Given the description of an element on the screen output the (x, y) to click on. 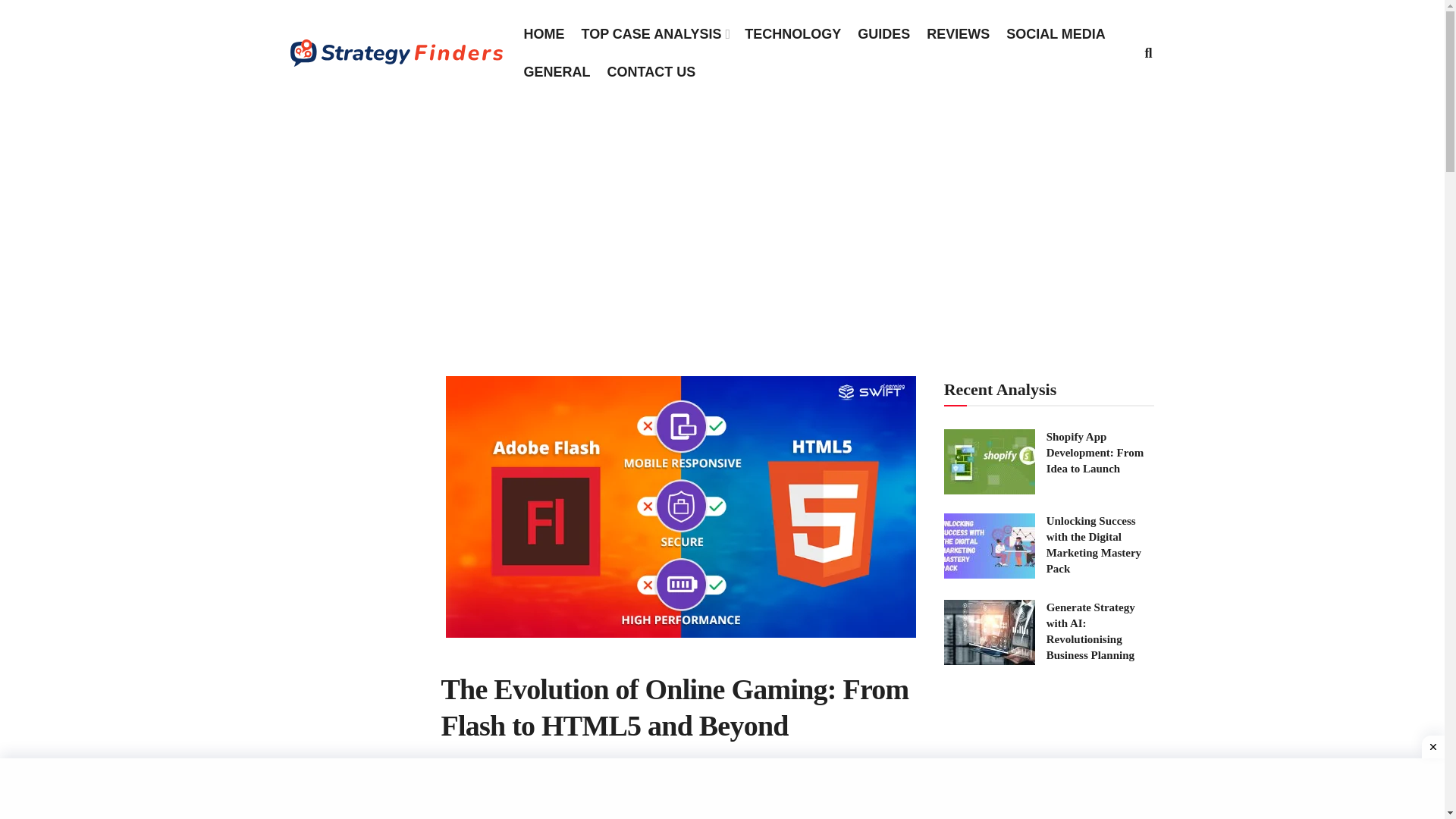
TOP CASE ANALYSIS (654, 34)
HOME (543, 34)
GENERAL (555, 72)
REVIEWS (958, 34)
SOCIAL MEDIA (1055, 34)
Advertisement (721, 788)
Advertisement (1049, 758)
CONTACT US (651, 72)
TECHNOLOGY (792, 34)
GUIDES (883, 34)
